Given the description of an element on the screen output the (x, y) to click on. 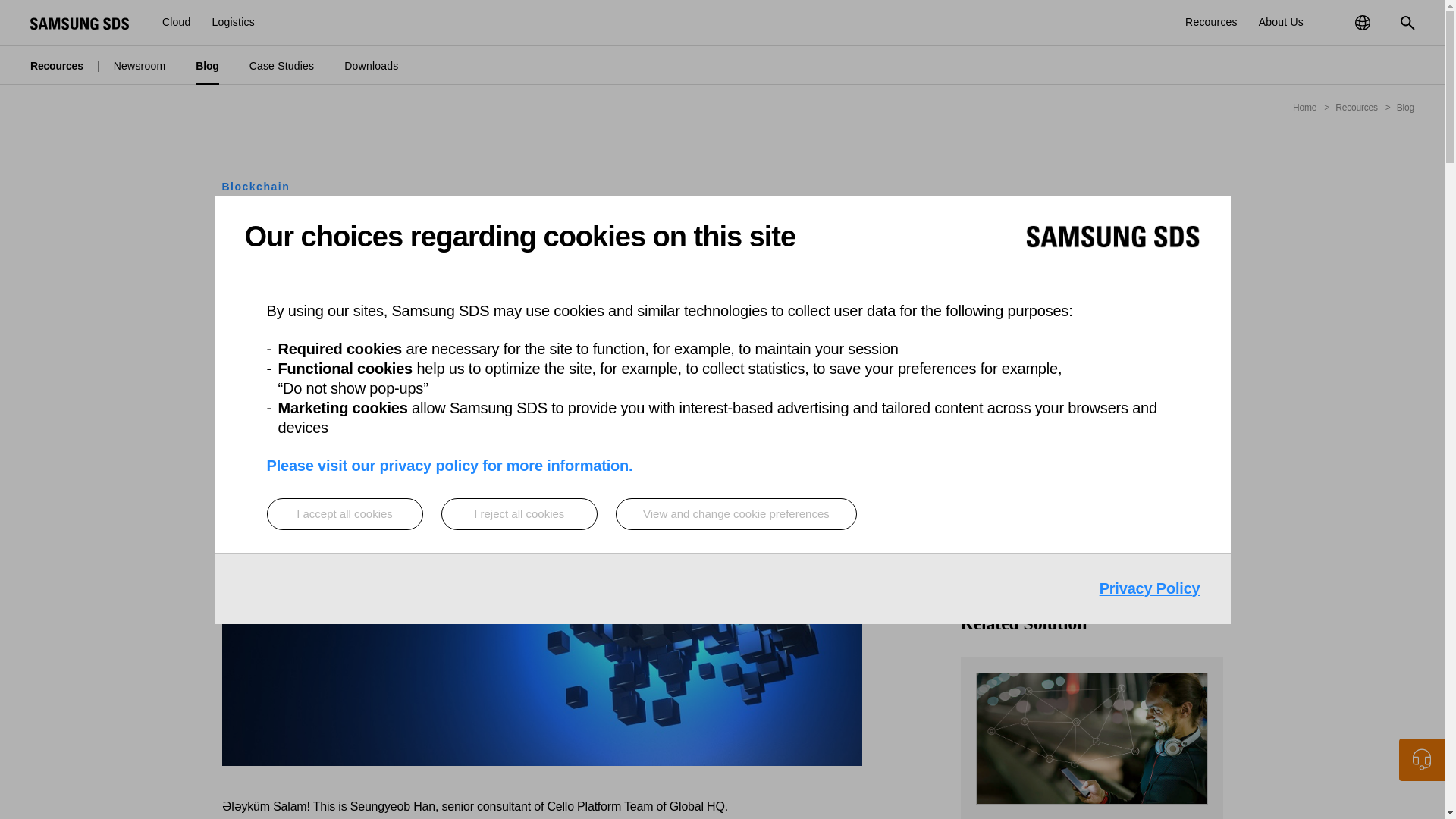
SAMSUNG SDS (79, 22)
